Given the description of an element on the screen output the (x, y) to click on. 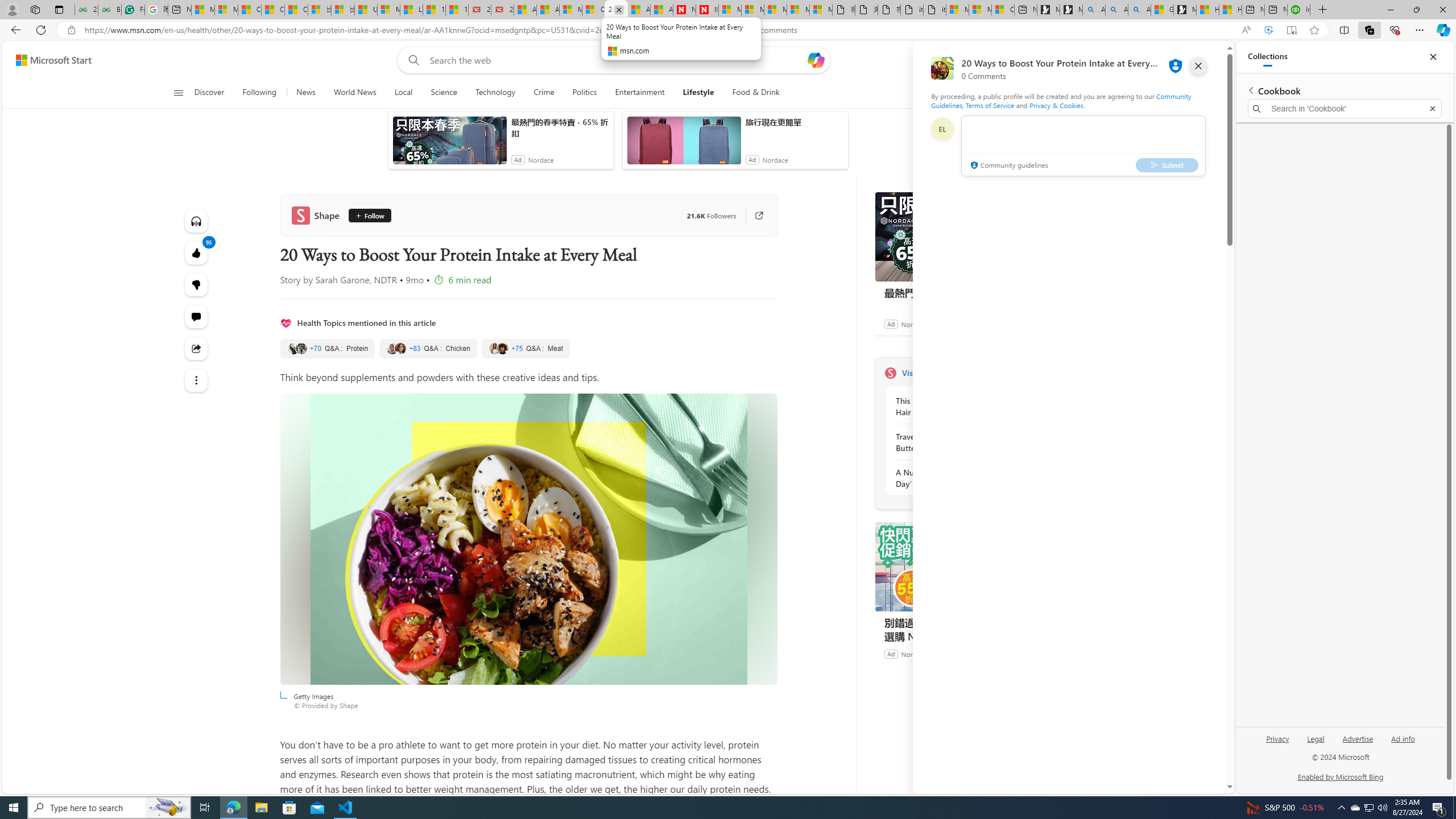
Alabama high school quarterback dies - Search (1093, 9)
News (305, 92)
Microsoft account | Privacy (979, 9)
25 Basic Linux Commands For Beginners - GeeksforGeeks (86, 9)
Technology (495, 92)
Advertise (1357, 738)
Feedback (1182, 784)
How to Use a TV as a Computer Monitor (1230, 9)
Meat (524, 348)
Shape (318, 215)
